Given the description of an element on the screen output the (x, y) to click on. 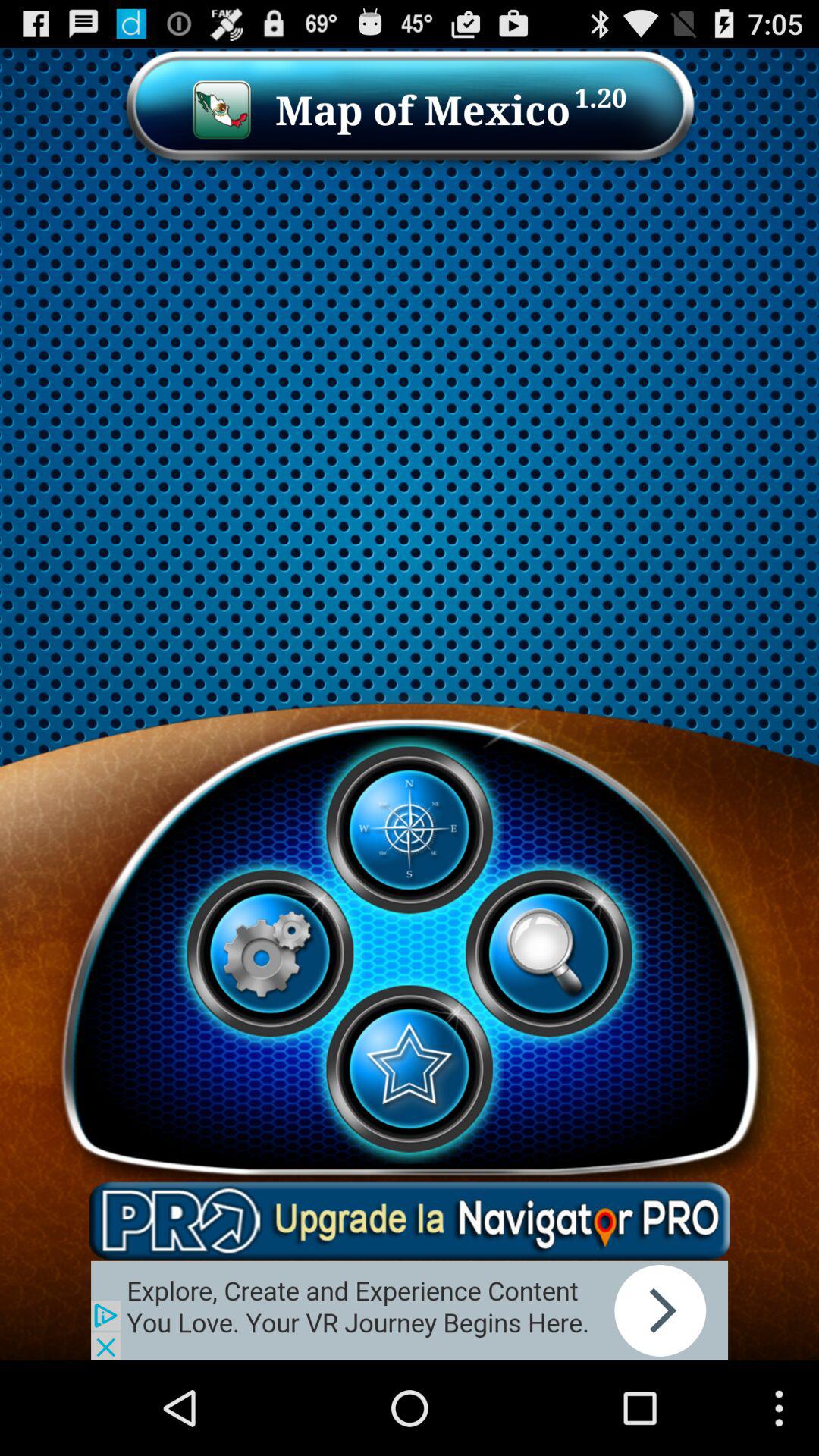
far add (409, 1310)
